Given the description of an element on the screen output the (x, y) to click on. 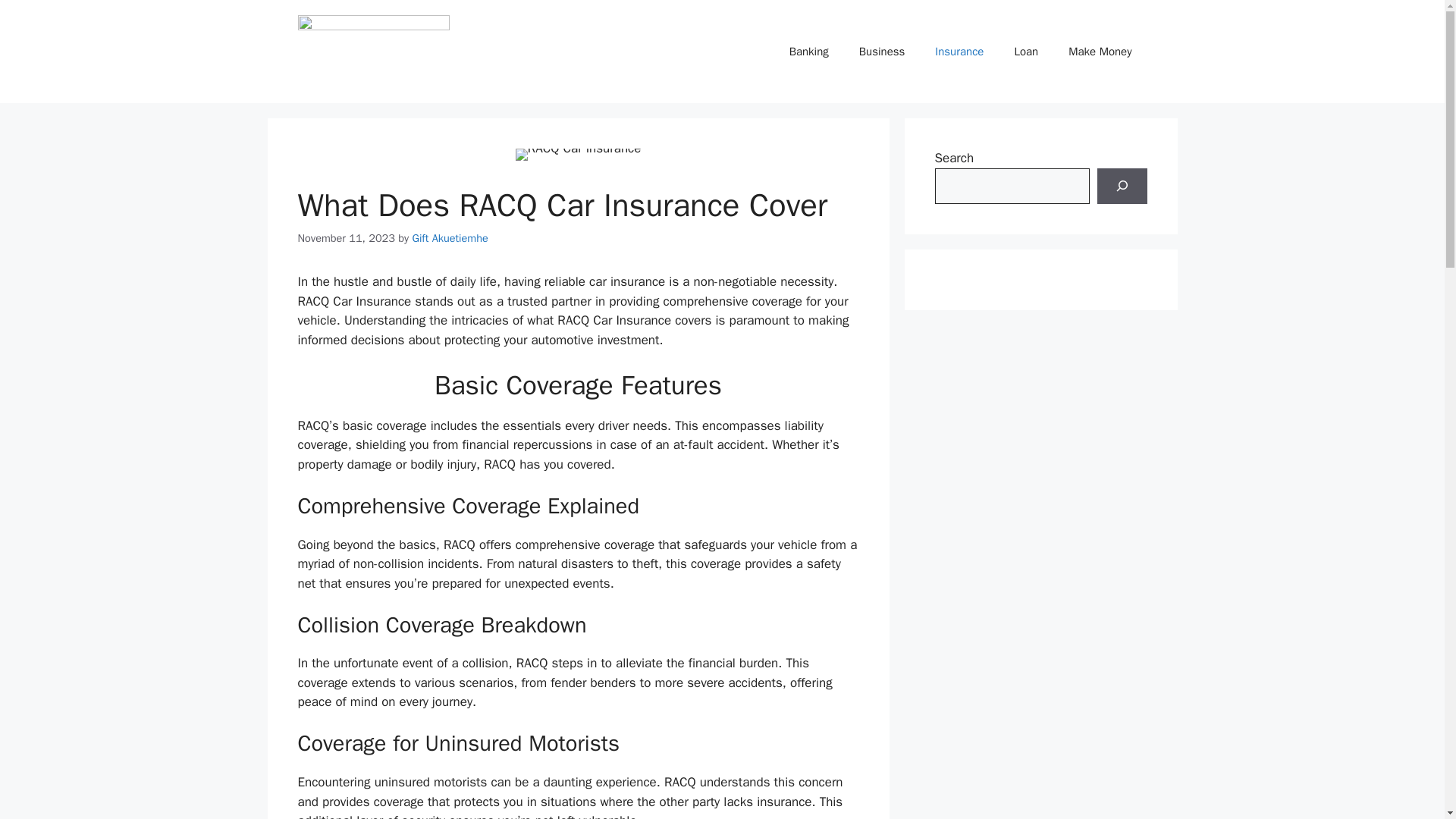
Make Money (1099, 51)
Gift Akuetiemhe (449, 237)
Insurance (959, 51)
View all posts by Gift Akuetiemhe (449, 237)
Loan (1025, 51)
Business (882, 51)
Banking (809, 51)
